Given the description of an element on the screen output the (x, y) to click on. 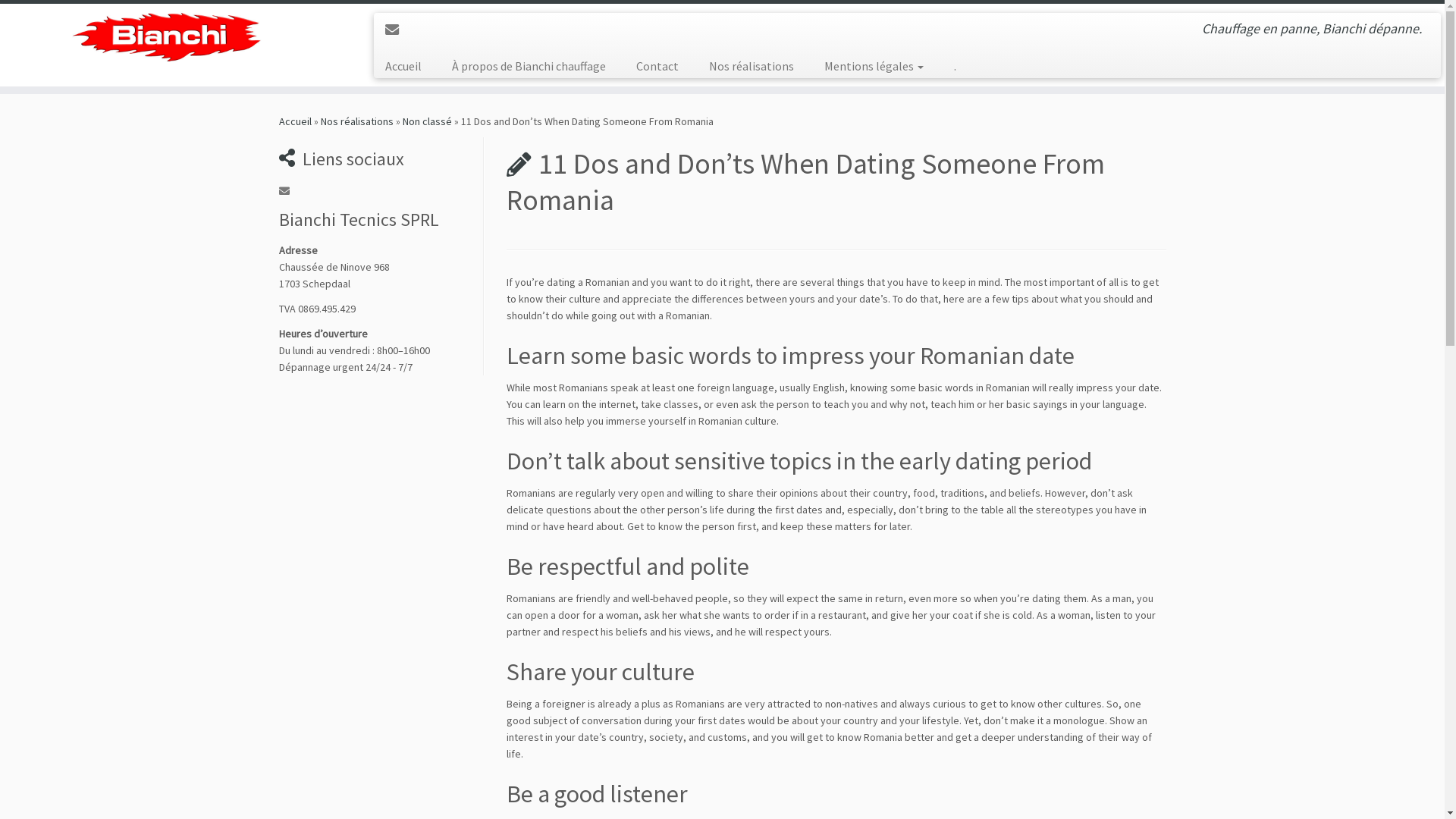
E-mail Element type: hover (396, 29)
Accueil Element type: text (295, 121)
. Element type: text (947, 65)
E-mail Element type: hover (289, 190)
Accueil Element type: text (408, 65)
Contact Element type: text (657, 65)
